Given the description of an element on the screen output the (x, y) to click on. 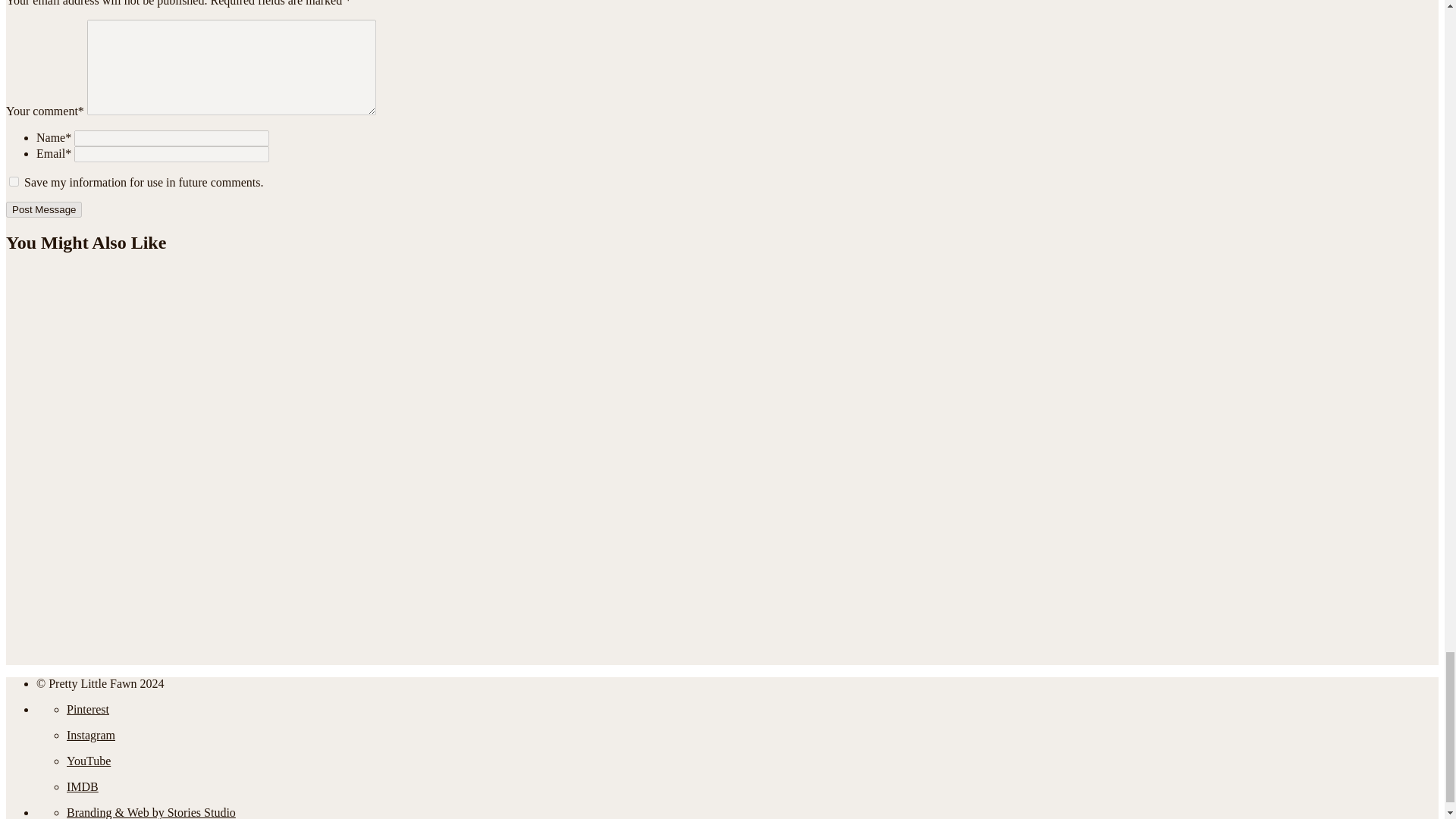
yes (13, 181)
Post Message (43, 209)
